Given the description of an element on the screen output the (x, y) to click on. 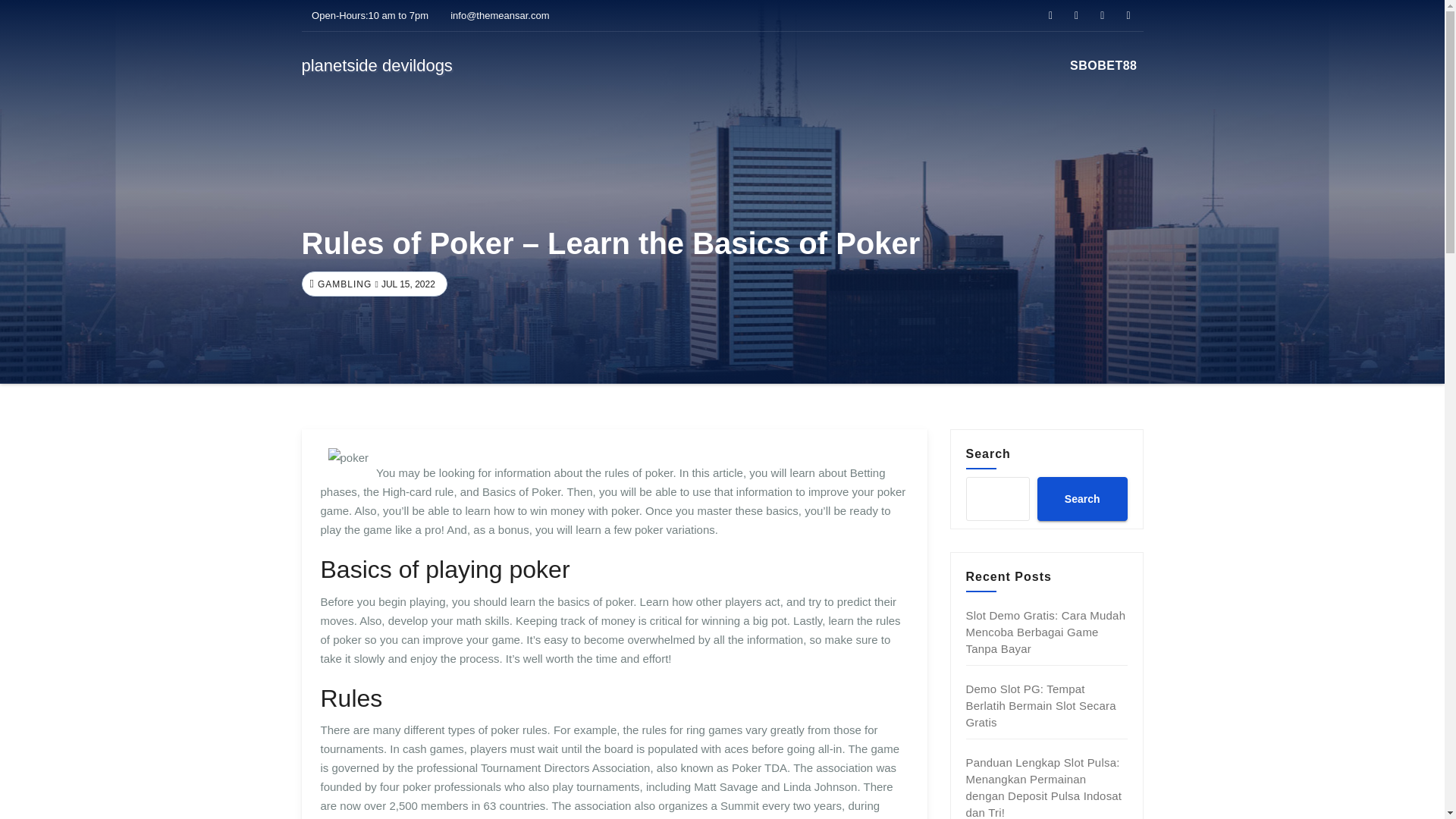
Search (1081, 498)
Demo Slot PG: Tempat Berlatih Bermain Slot Secara Gratis (1041, 705)
GAMBLING (342, 284)
Open-Hours:10 am to 7pm (365, 15)
planetside devildogs (376, 65)
SBOBET88 (1103, 65)
SBOBET88 (1103, 65)
